Given the description of an element on the screen output the (x, y) to click on. 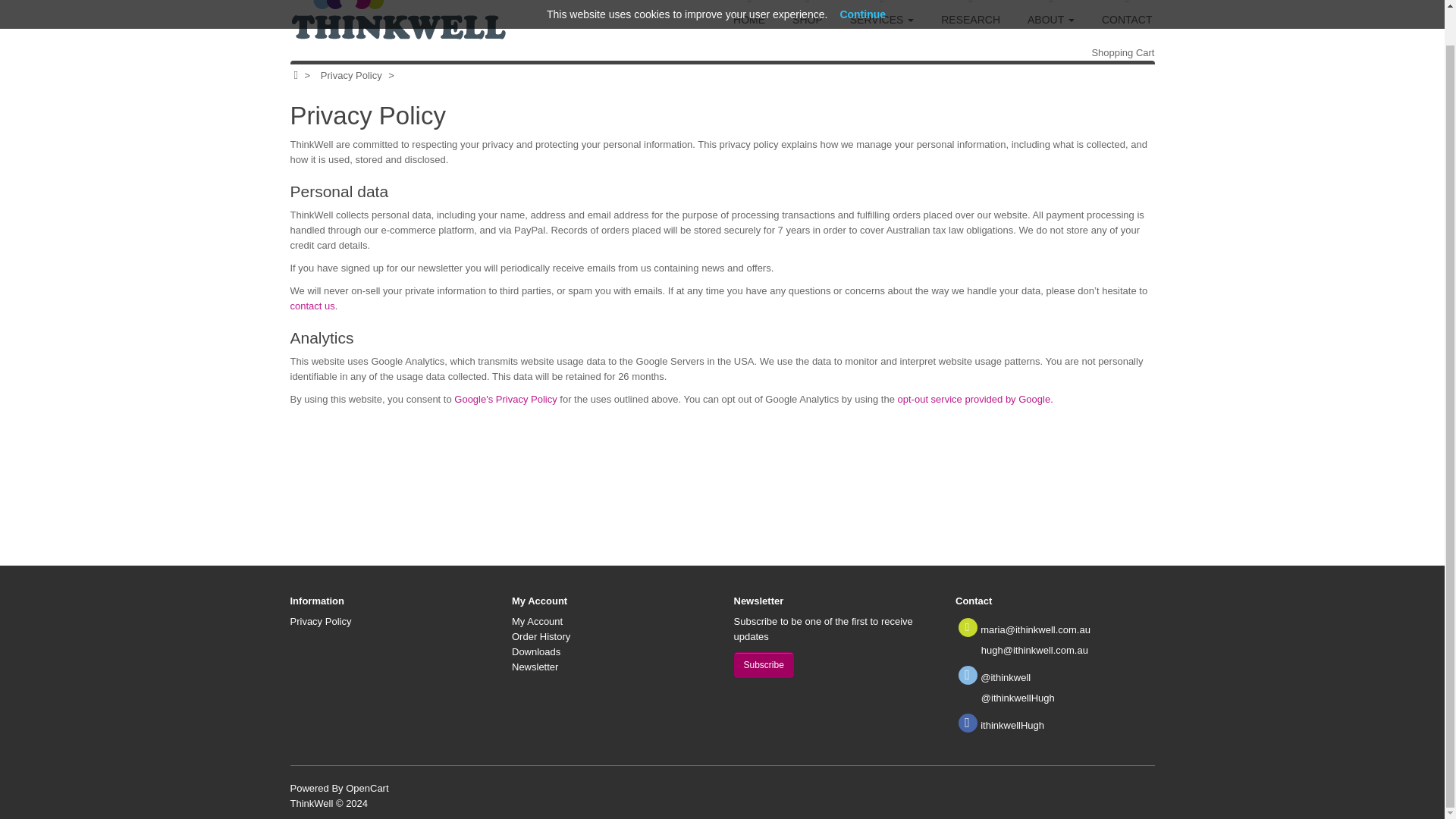
ABOUT (1050, 22)
Subscribe (763, 664)
Newsletter (534, 666)
Order History (541, 636)
Google's Privacy Policy (505, 398)
contact us (311, 306)
HOME (748, 22)
SERVICES (881, 22)
opt-out service provided by Google. (975, 398)
Shopping Cart (1122, 52)
Downloads (536, 651)
SHOP (806, 22)
RESEARCH (970, 22)
ithinkwellHugh (1011, 725)
CONTACT (1126, 22)
